Given the description of an element on the screen output the (x, y) to click on. 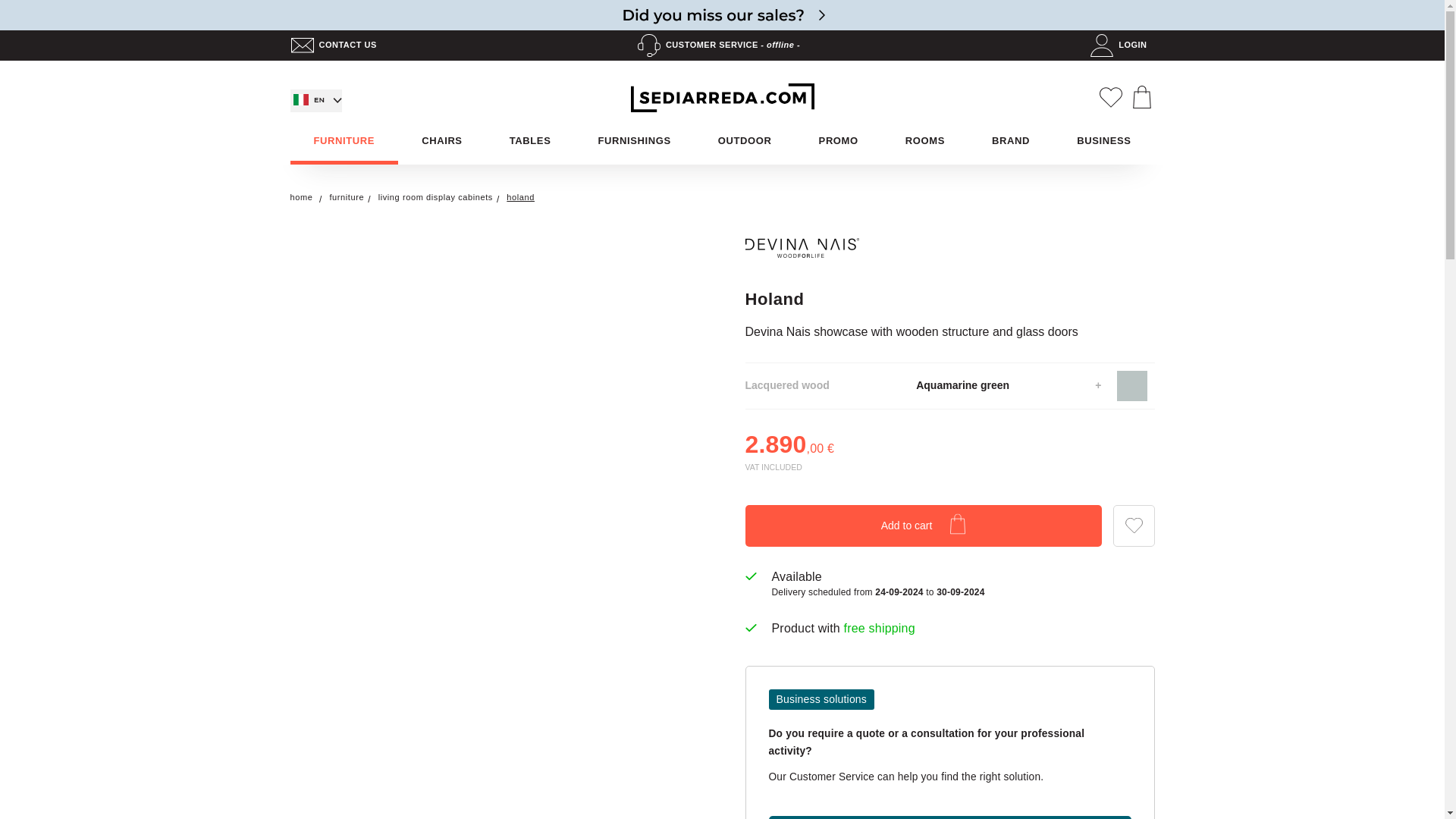
LOGIN (1121, 45)
CONTACT US (336, 45)
FURNITURE (343, 141)
CUSTOMER SERVICE - offline - (722, 45)
